Given the description of an element on the screen output the (x, y) to click on. 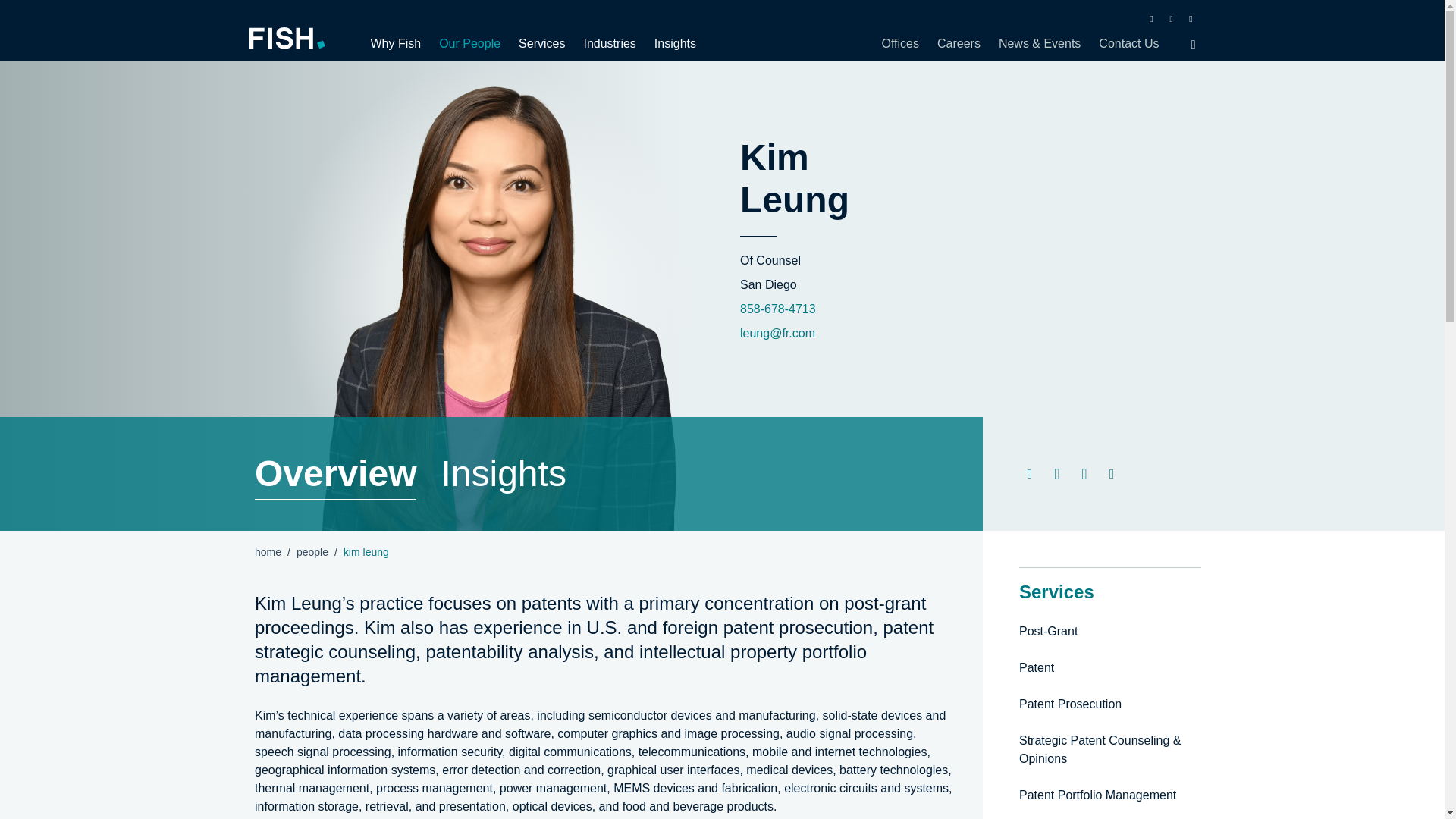
Careers (959, 43)
Overview (335, 473)
Our People (469, 43)
Why Fish (399, 43)
Insights (503, 473)
Twitter (1170, 18)
858-678-4713 (777, 308)
Contact Us (1123, 43)
Insights (670, 43)
people (313, 551)
